Given the description of an element on the screen output the (x, y) to click on. 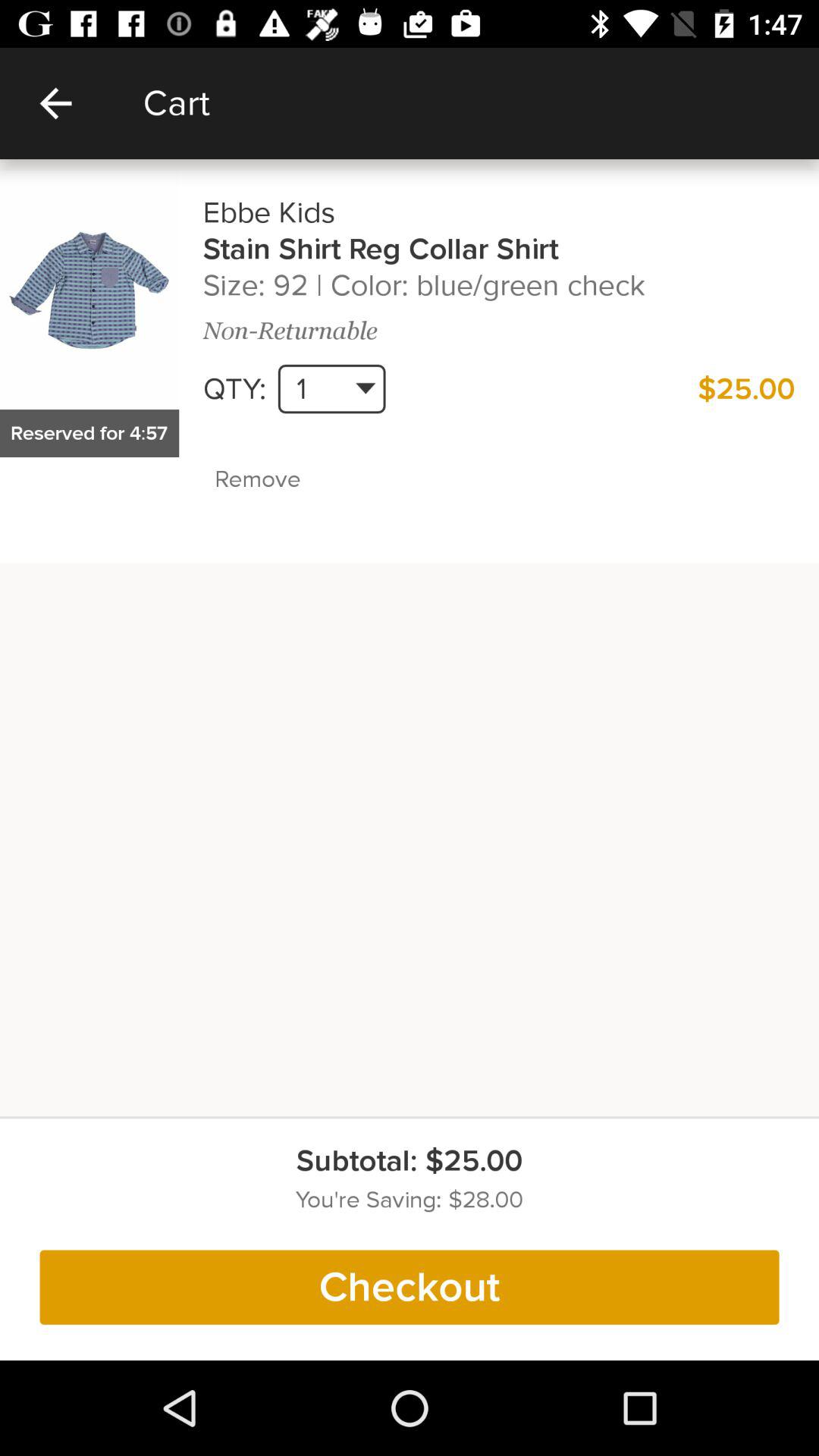
click the item next to the reserved for 4 (290, 479)
